Given the description of an element on the screen output the (x, y) to click on. 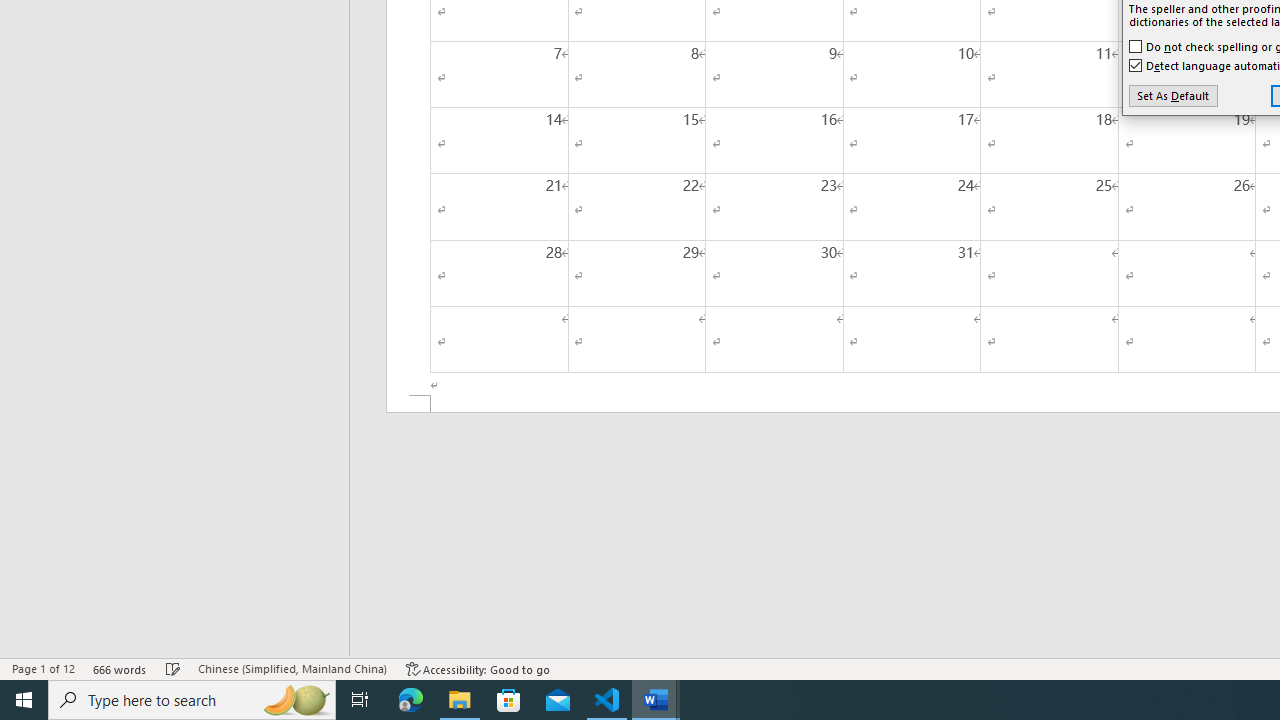
Word Count 666 words (119, 668)
Microsoft Edge (411, 699)
Language Chinese (Simplified, Mainland China) (292, 668)
Accessibility Checker Accessibility: Good to go (478, 668)
Word - 2 running windows (656, 699)
File Explorer - 1 running window (460, 699)
Task View (359, 699)
Visual Studio Code - 1 running window (607, 699)
Set As Default (1172, 96)
Search highlights icon opens search home window (295, 699)
Start (24, 699)
Microsoft Store (509, 699)
Type here to search (191, 699)
